Given the description of an element on the screen output the (x, y) to click on. 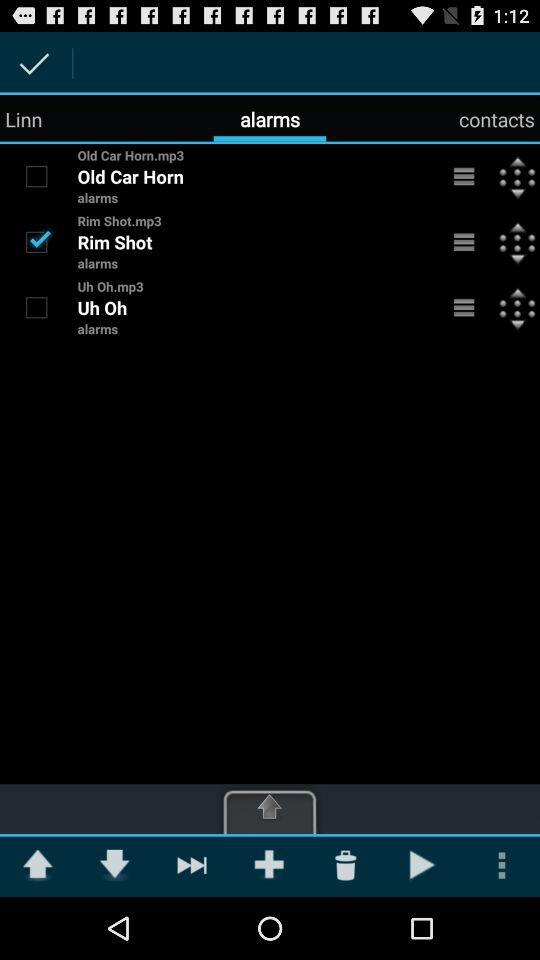
sound options (463, 175)
